Given the description of an element on the screen output the (x, y) to click on. 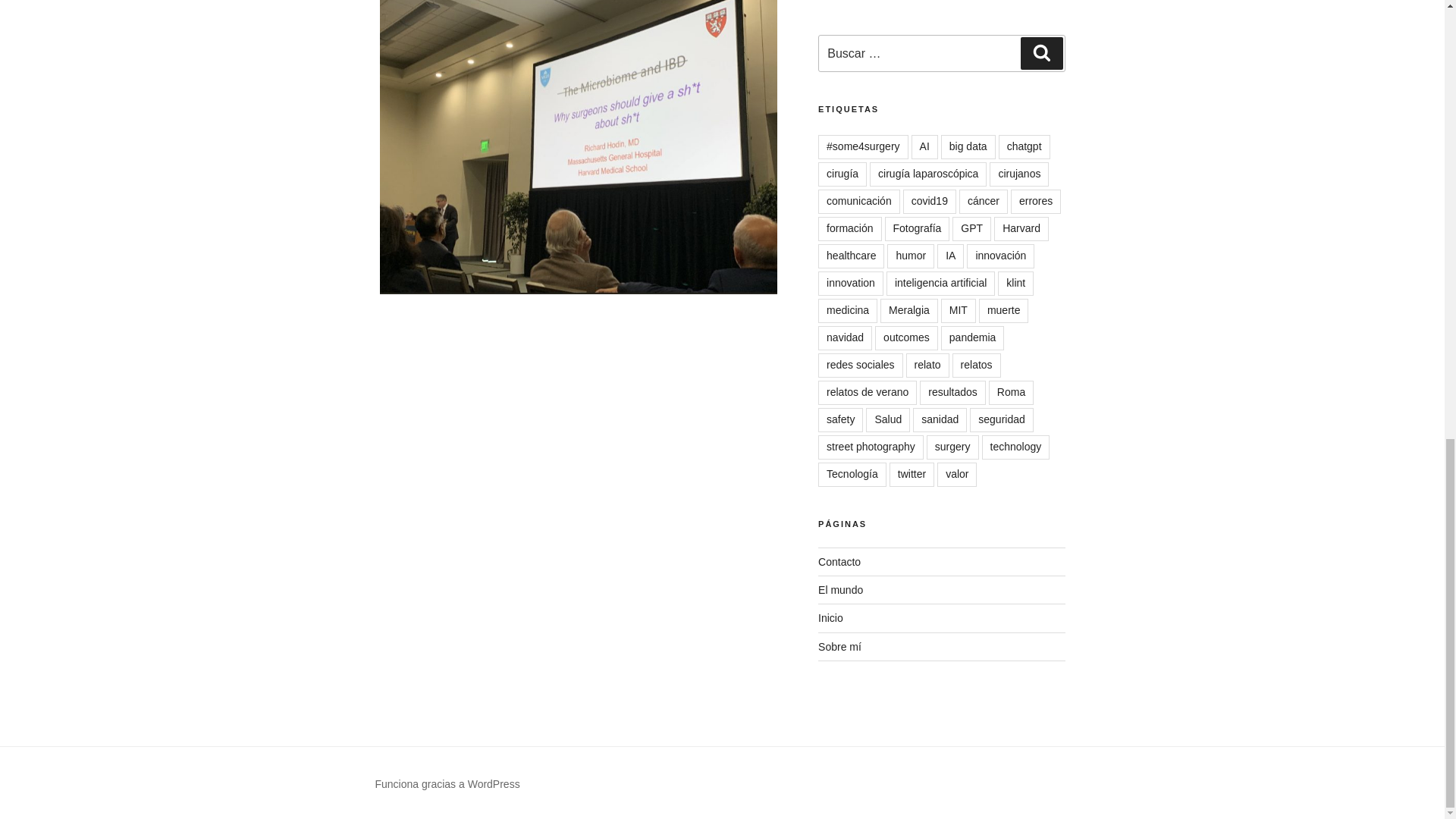
errores (1035, 201)
AI (924, 146)
chatgpt (1023, 146)
Buscar (1041, 52)
big data (967, 146)
covid19 (929, 201)
cirujanos (1019, 174)
